Given the description of an element on the screen output the (x, y) to click on. 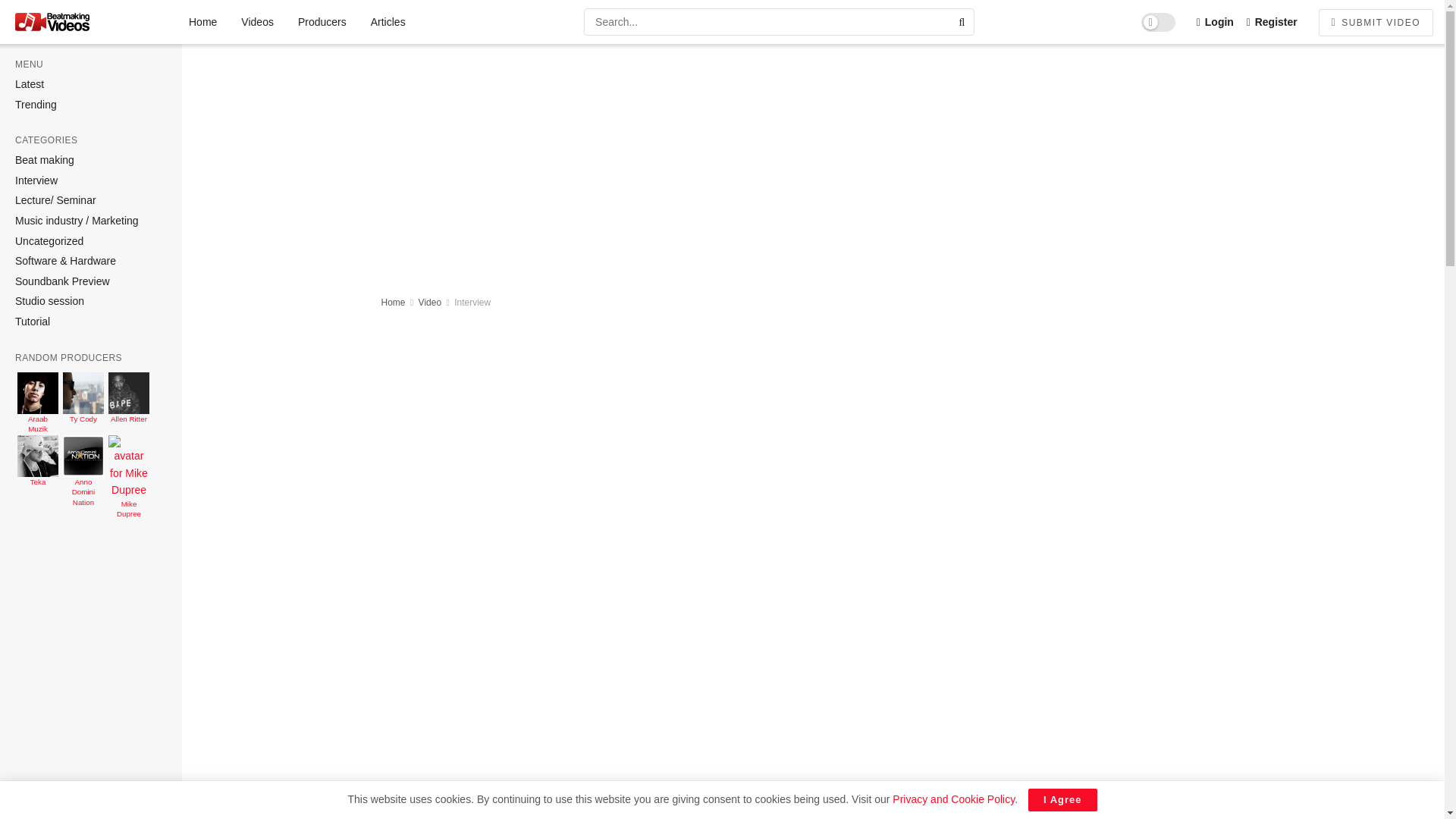
Allen Ritter (128, 408)
Ty Cody (82, 408)
Anno Domini Nation (82, 471)
Trending (35, 105)
Home (202, 22)
Videos (256, 22)
Allen Ritter (128, 408)
Latest (28, 84)
Araab Muzik (37, 408)
Beat making (44, 160)
